Given the description of an element on the screen output the (x, y) to click on. 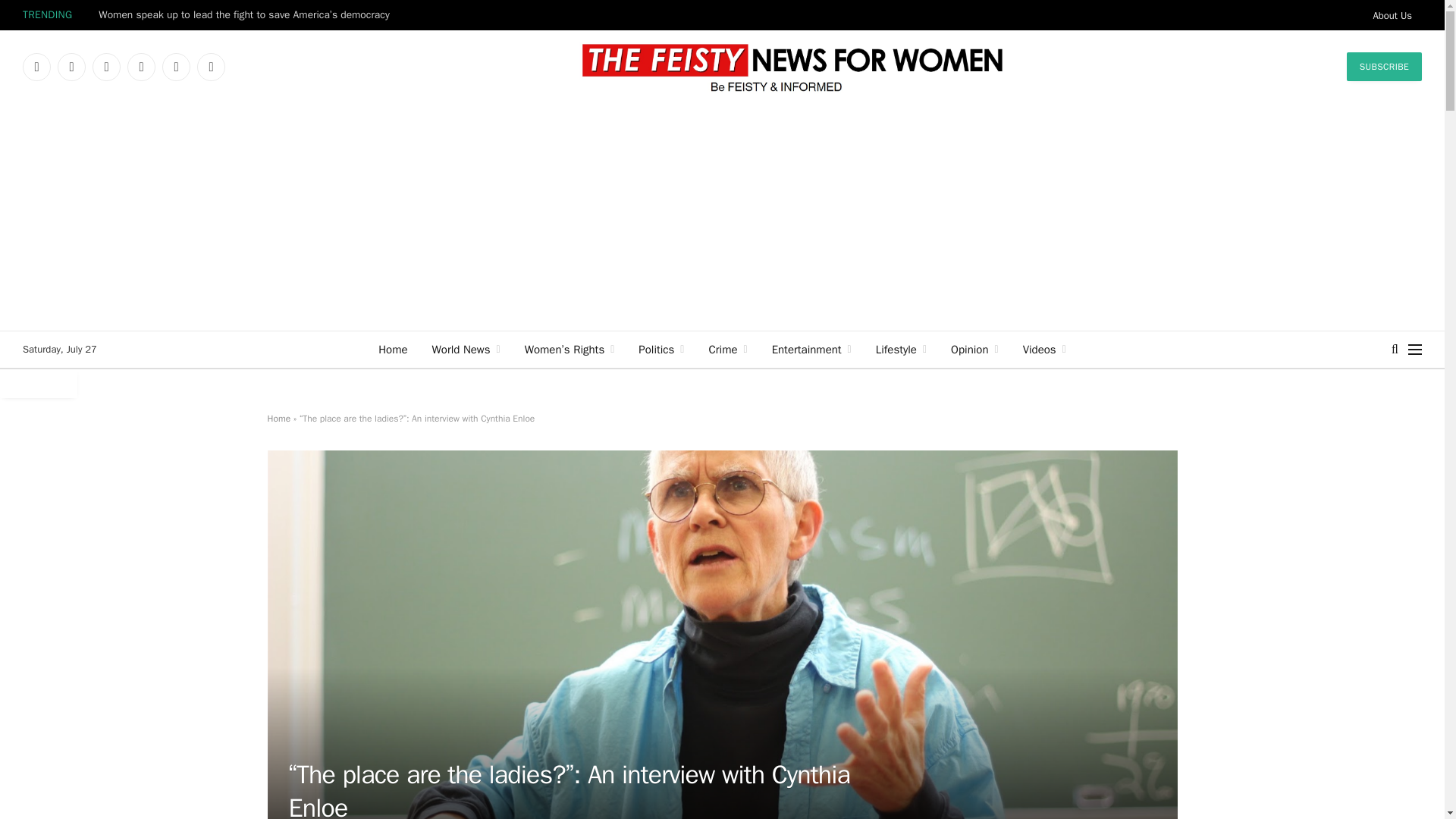
Instagram (106, 67)
SUBSCRIBE (1384, 66)
Facebook (36, 67)
TikTok (175, 67)
YouTube (141, 67)
Home (392, 349)
RSS (210, 67)
The Feisty News For Women (791, 66)
About Us (1392, 15)
World News (466, 349)
